Given the description of an element on the screen output the (x, y) to click on. 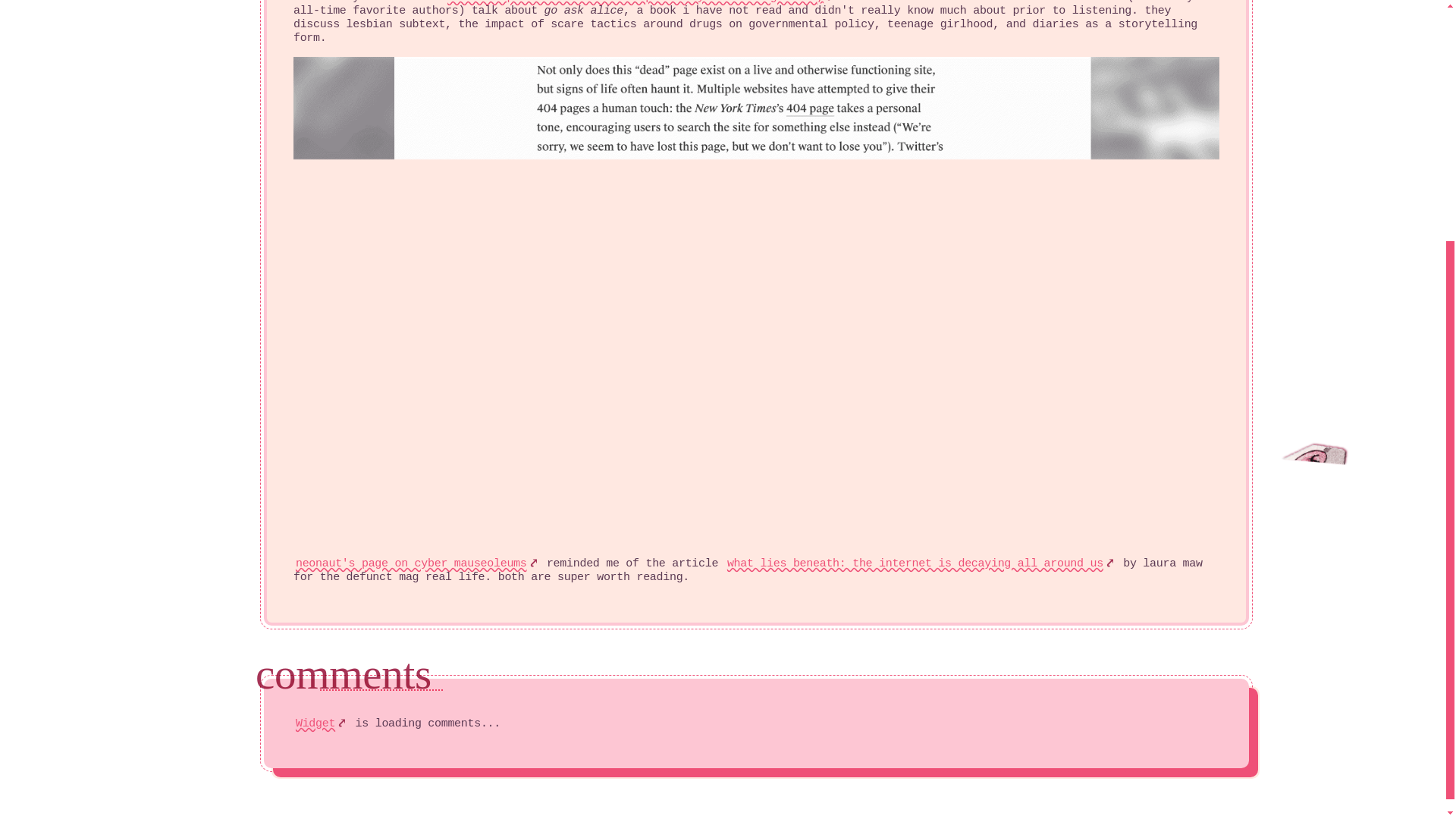
what lies beneath: the internet is decaying all around us (920, 563)
neonaut's page on cyber mauseoleums (417, 563)
Widget (321, 723)
